Given the description of an element on the screen output the (x, y) to click on. 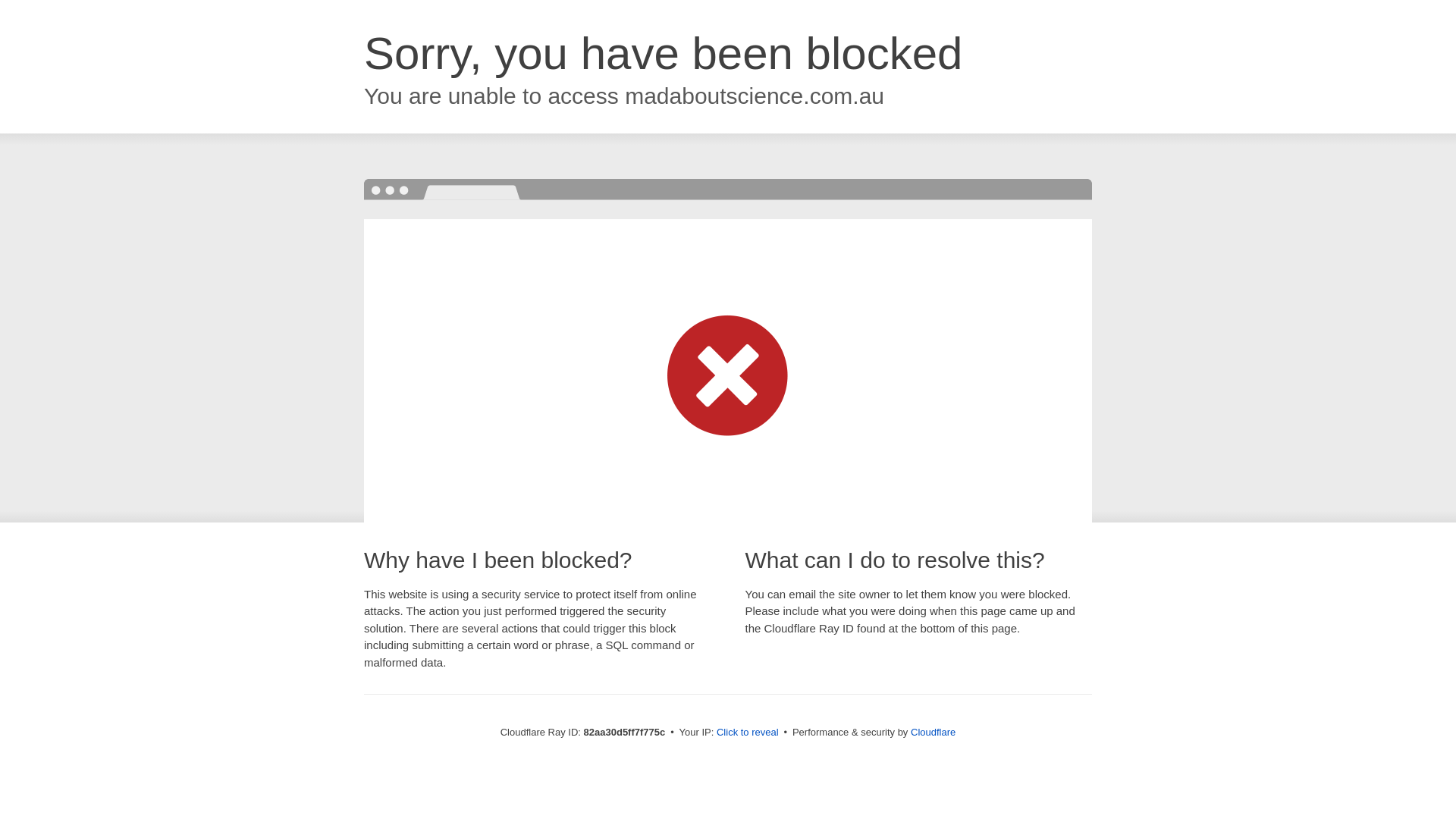
Cloudflare Element type: text (932, 731)
Click to reveal Element type: text (747, 732)
